Given the description of an element on the screen output the (x, y) to click on. 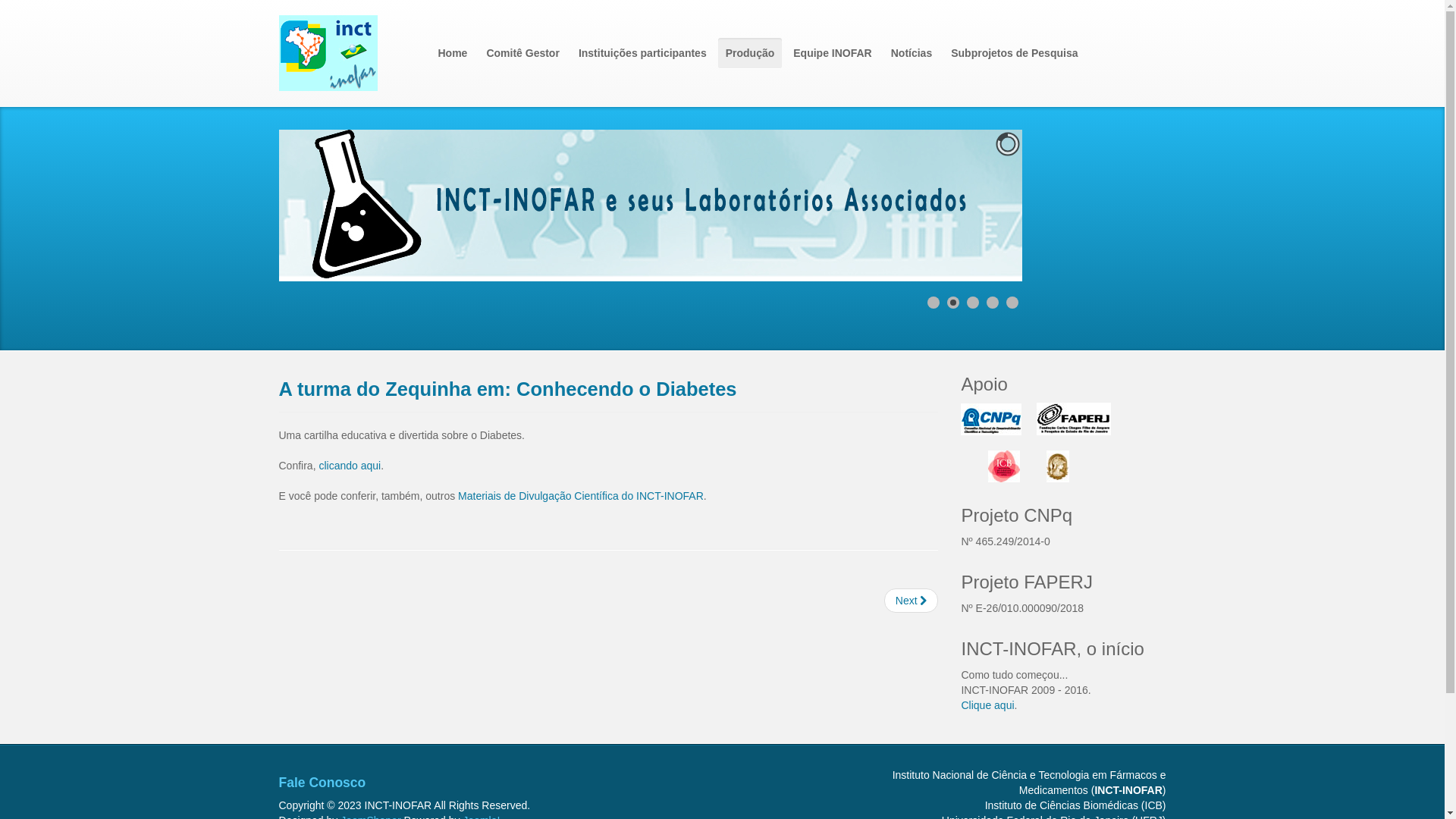
Home Element type: text (452, 52)
clicando aqui Element type: text (349, 465)
Subprojetos de Pesquisa Element type: text (1014, 52)
Fale Conosco Element type: text (322, 782)
A turma do Zequinha em: Conhecendo o Diabetes Element type: text (508, 388)
Equipe INOFAR Element type: text (831, 52)
Clique aqui Element type: text (986, 705)
Next Element type: text (911, 600)
